Given the description of an element on the screen output the (x, y) to click on. 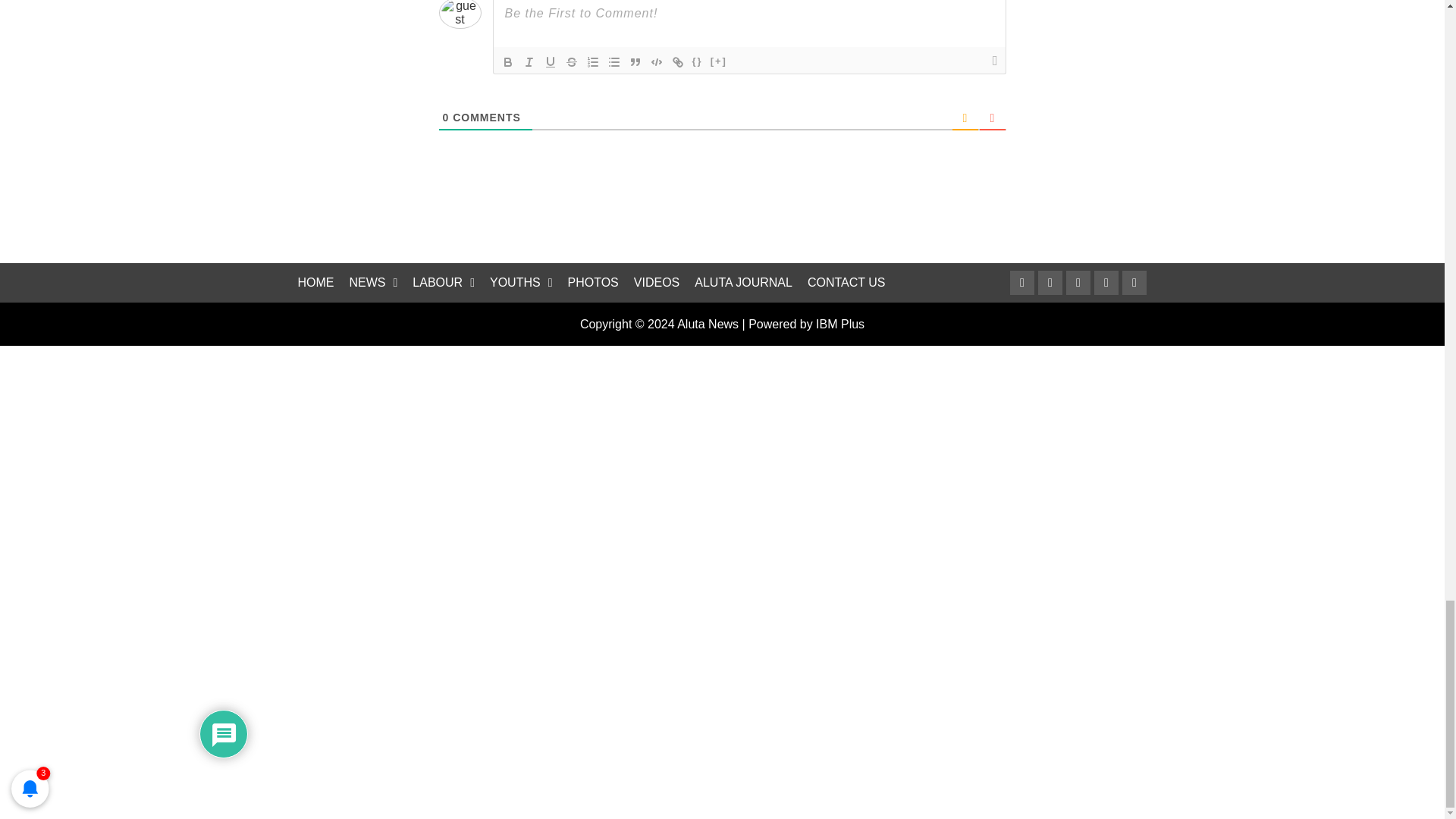
Strike (571, 62)
Ordered List (593, 62)
Code Block (656, 62)
Unordered List (614, 62)
Bold (507, 62)
Blockquote (635, 62)
Underline (550, 62)
Italic (529, 62)
